Given the description of an element on the screen output the (x, y) to click on. 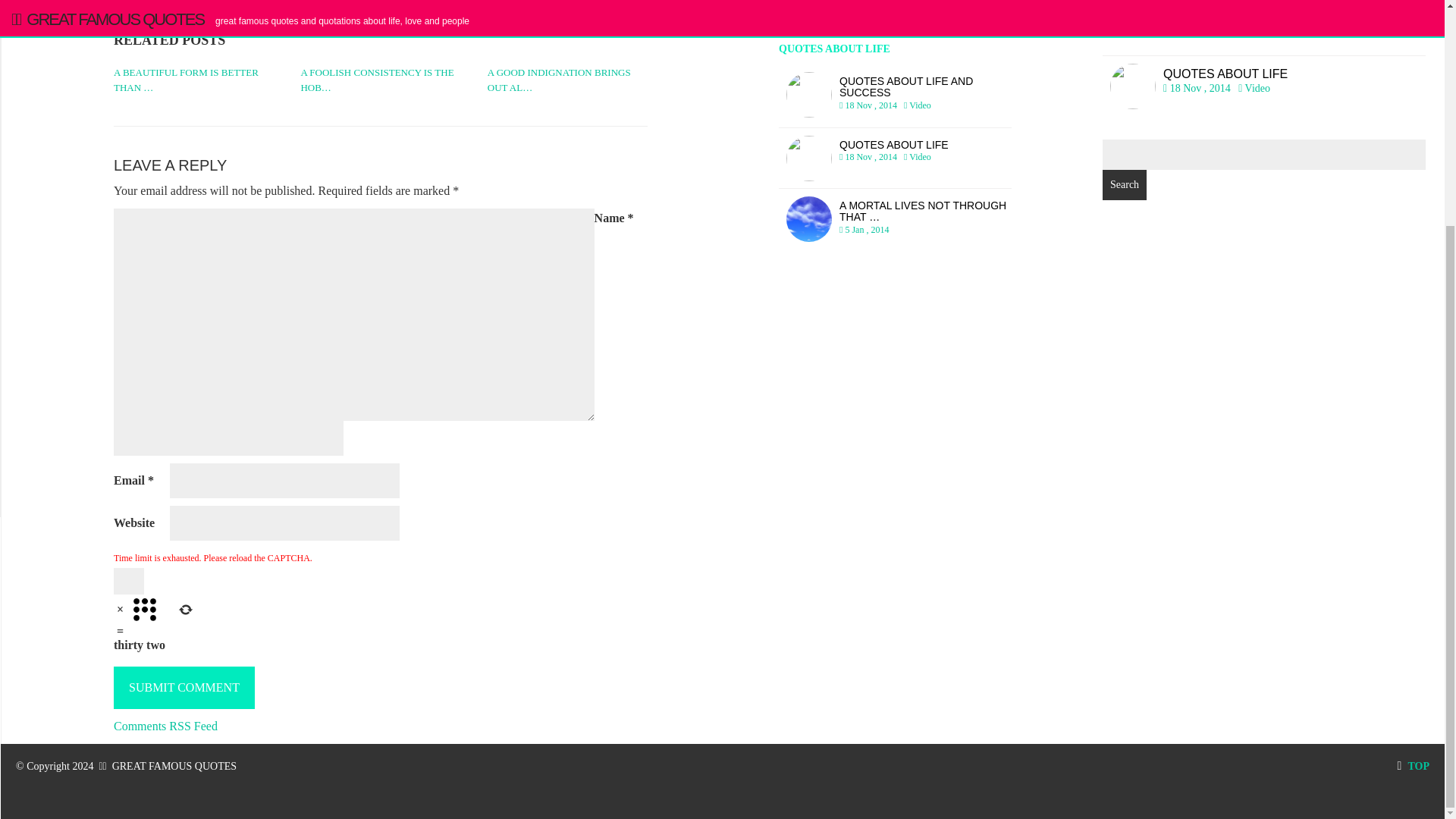
Submit Comment (183, 686)
Submit Comment (183, 686)
Search (1124, 184)
Comments RSS Feed (164, 725)
TOP (894, 95)
Search (1412, 765)
Emerson Ralph Waldo (894, 158)
